Given the description of an element on the screen output the (x, y) to click on. 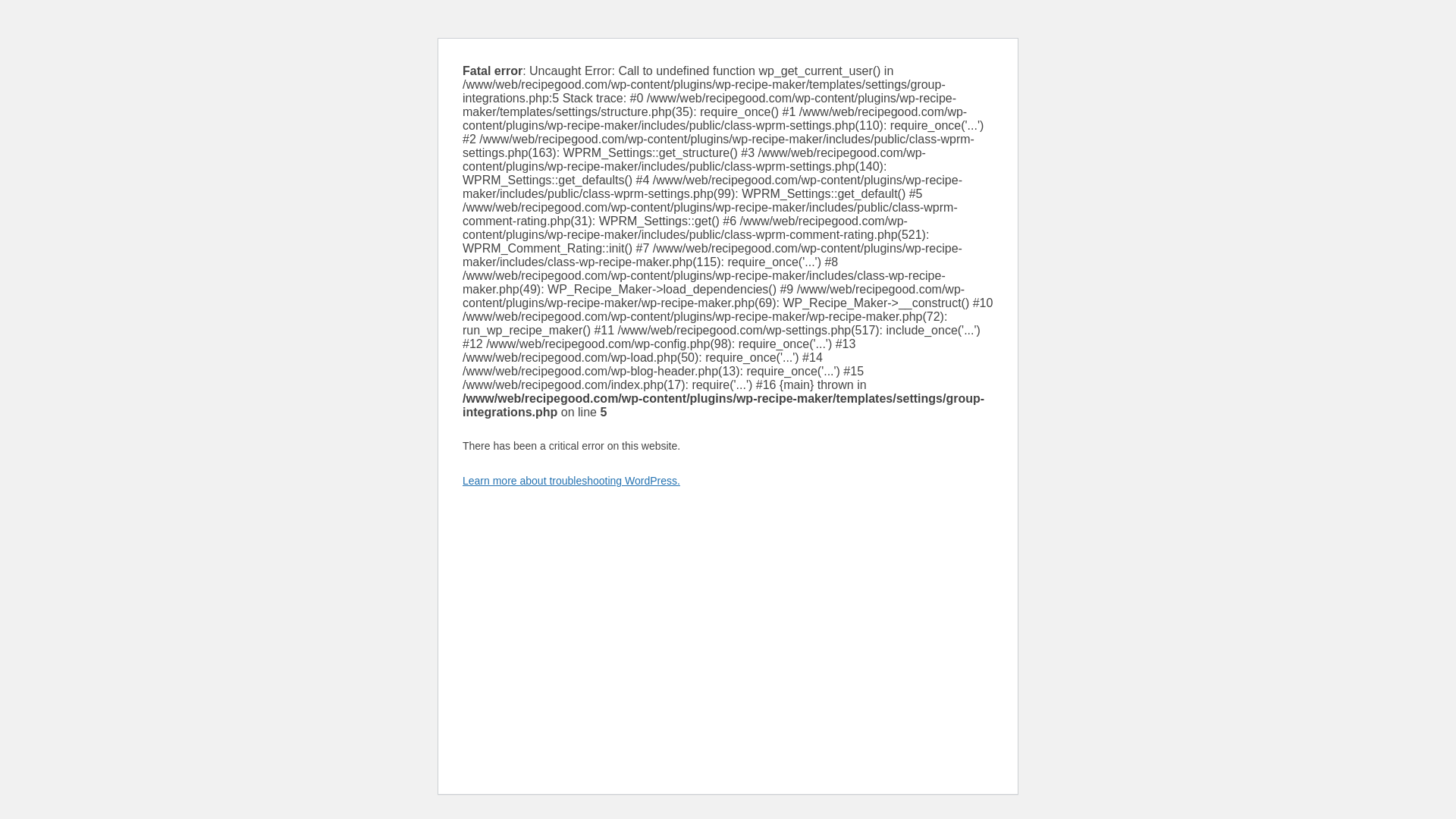
Learn more about troubleshooting WordPress. (571, 480)
